Given the description of an element on the screen output the (x, y) to click on. 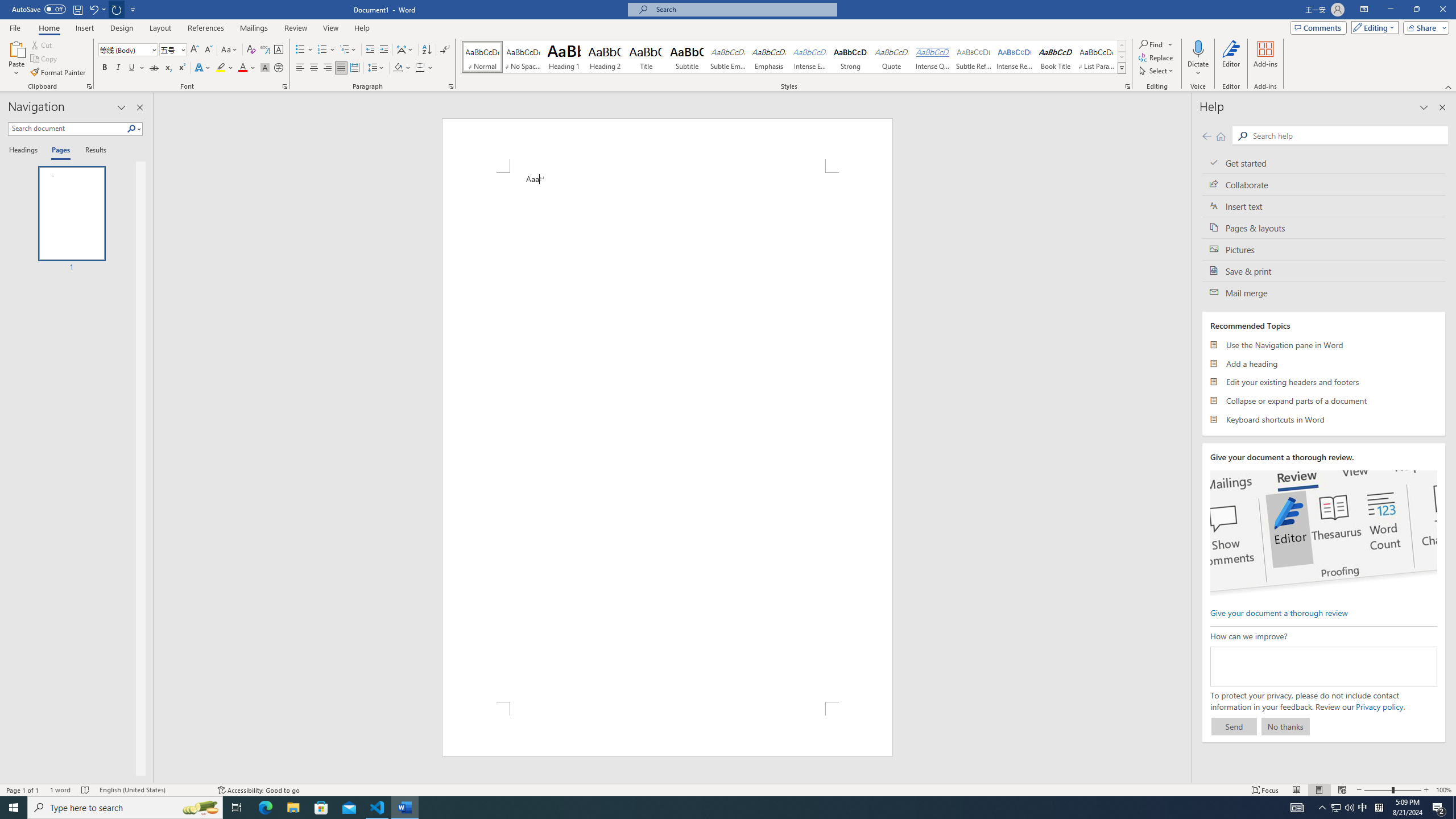
Font (124, 49)
Quick Access Toolbar (74, 9)
Close (1442, 9)
Zoom (1392, 790)
Character Border (278, 49)
Open (182, 49)
Align Left (300, 67)
Minimize (1390, 9)
Share (1423, 27)
Zoom Out (1377, 790)
Search (1347, 135)
Editor (1231, 58)
Show/Hide Editing Marks (444, 49)
Zoom In (1426, 790)
References (205, 28)
